Given the description of an element on the screen output the (x, y) to click on. 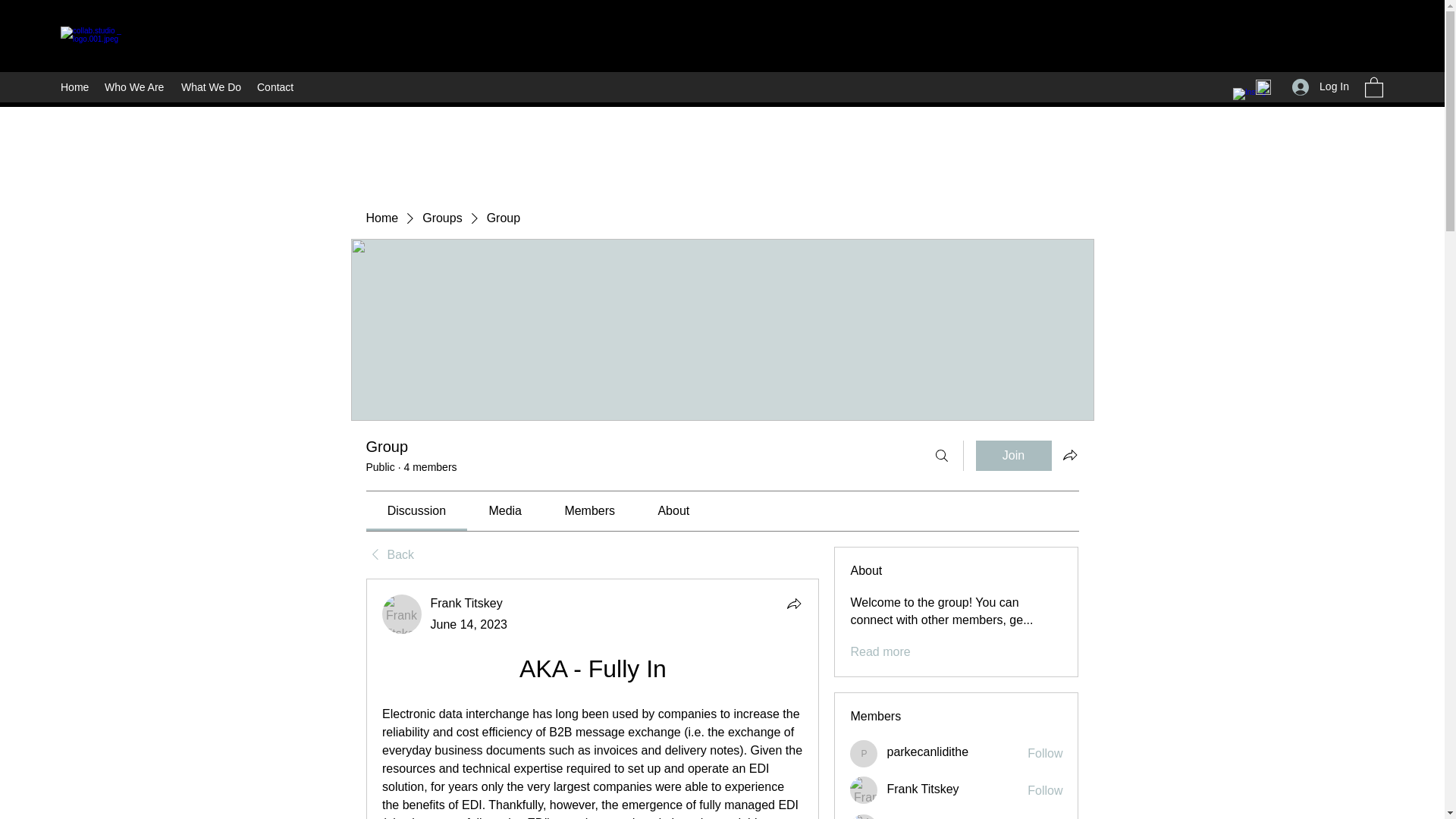
Frank Titskey (466, 603)
Follow (1044, 753)
parkecanlidithe (863, 753)
Log In (1320, 86)
Who We Are (135, 87)
Frank Titskey (401, 613)
Read more (880, 651)
Frank Titskey (922, 788)
Follow (1044, 790)
Home (74, 87)
